Given the description of an element on the screen output the (x, y) to click on. 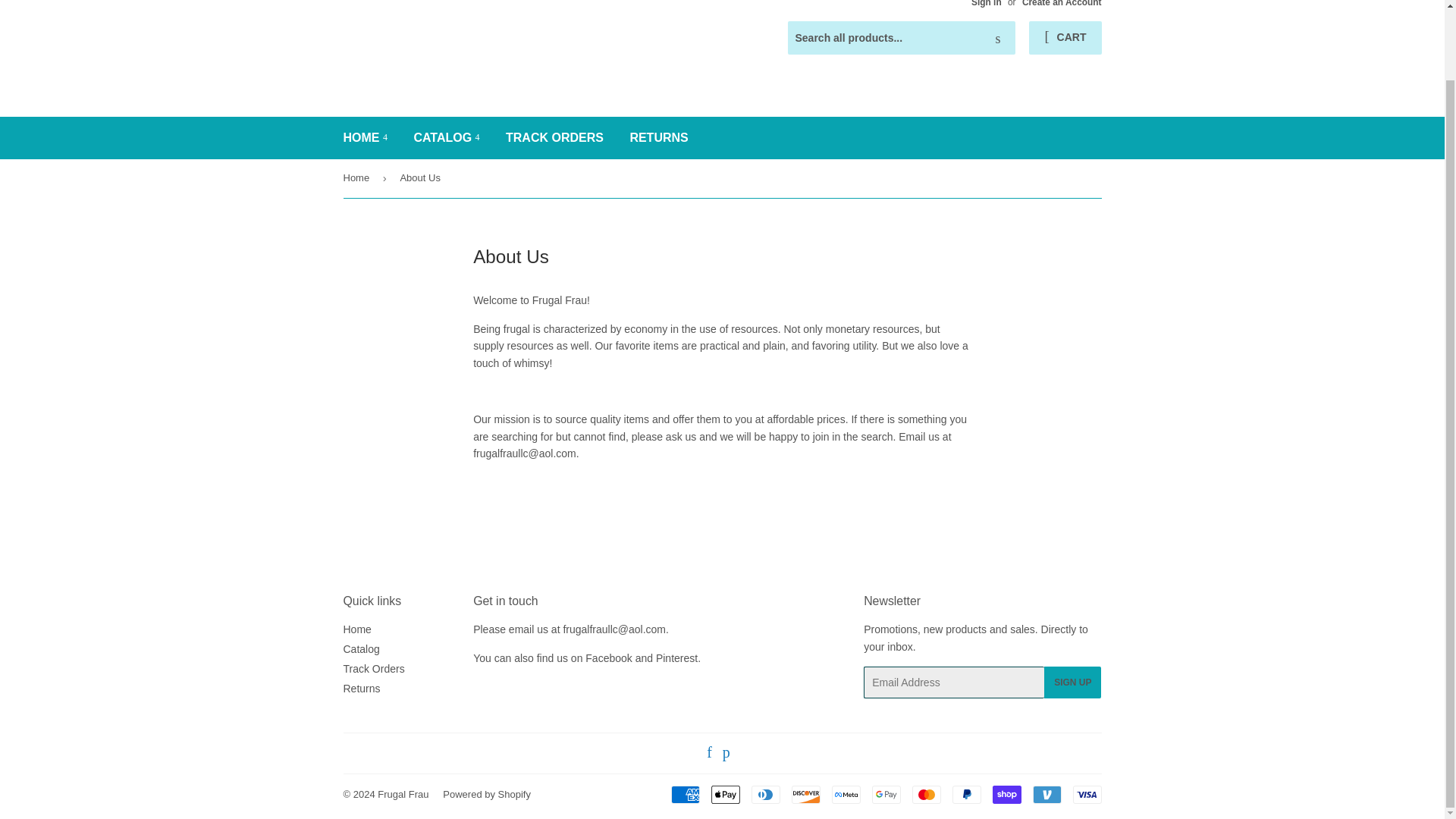
Track Orders (373, 668)
CATALOG (445, 137)
Create an Account (1062, 3)
Mastercard (925, 794)
Visa (1085, 794)
Search (997, 38)
Back to the frontpage (358, 177)
Diners Club (764, 794)
RETURNS (657, 137)
Frugal Frau on Pinterest (726, 753)
Shop Pay (1005, 794)
CART (1064, 37)
Meta Pay (845, 794)
Home (356, 629)
SIGN UP (1071, 682)
